Given the description of an element on the screen output the (x, y) to click on. 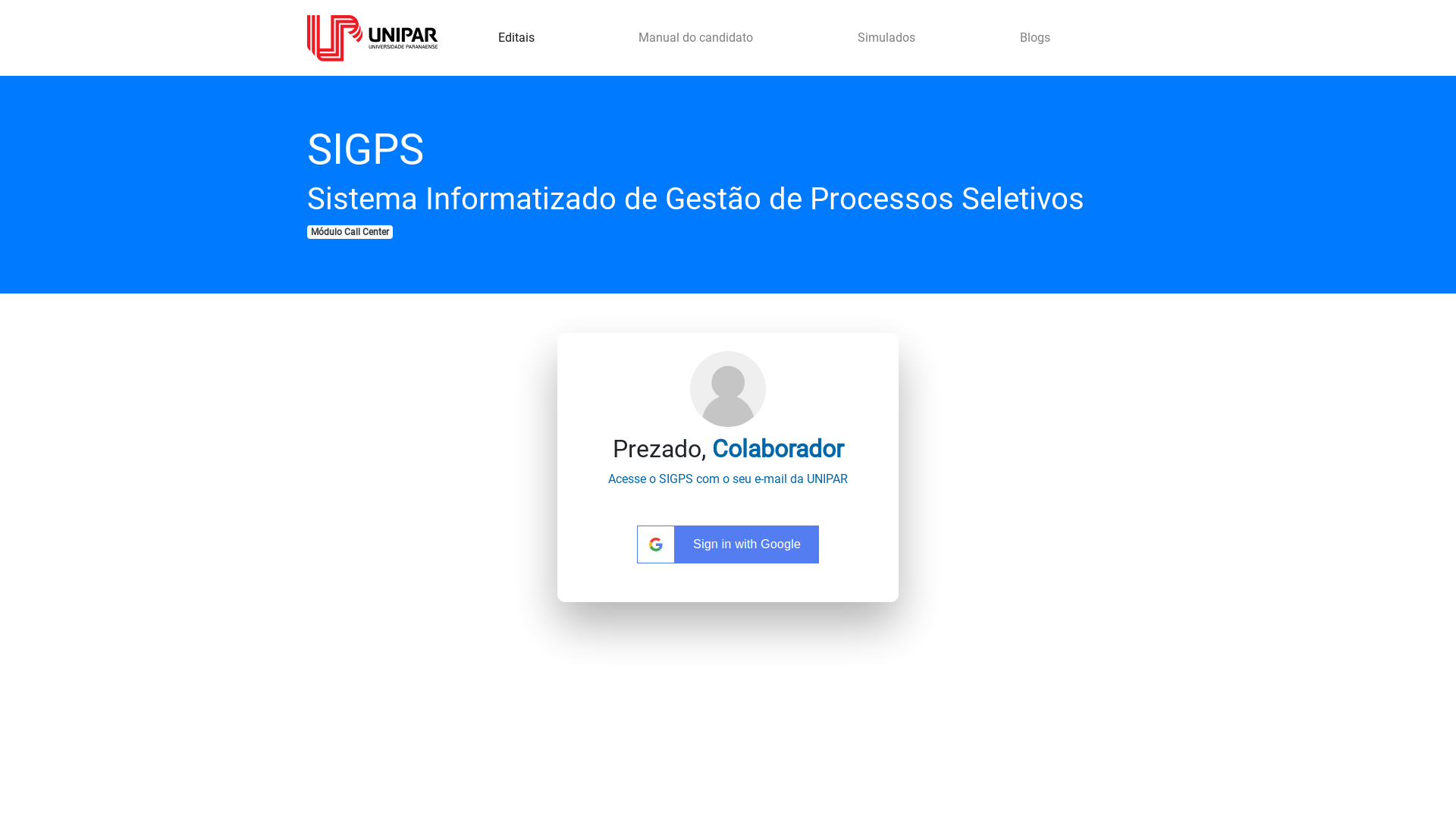
Blogs Element type: text (1034, 37)
Manual do candidato Element type: text (695, 37)
Editais Element type: text (515, 37)
Simulados Element type: text (886, 37)
